Given the description of an element on the screen output the (x, y) to click on. 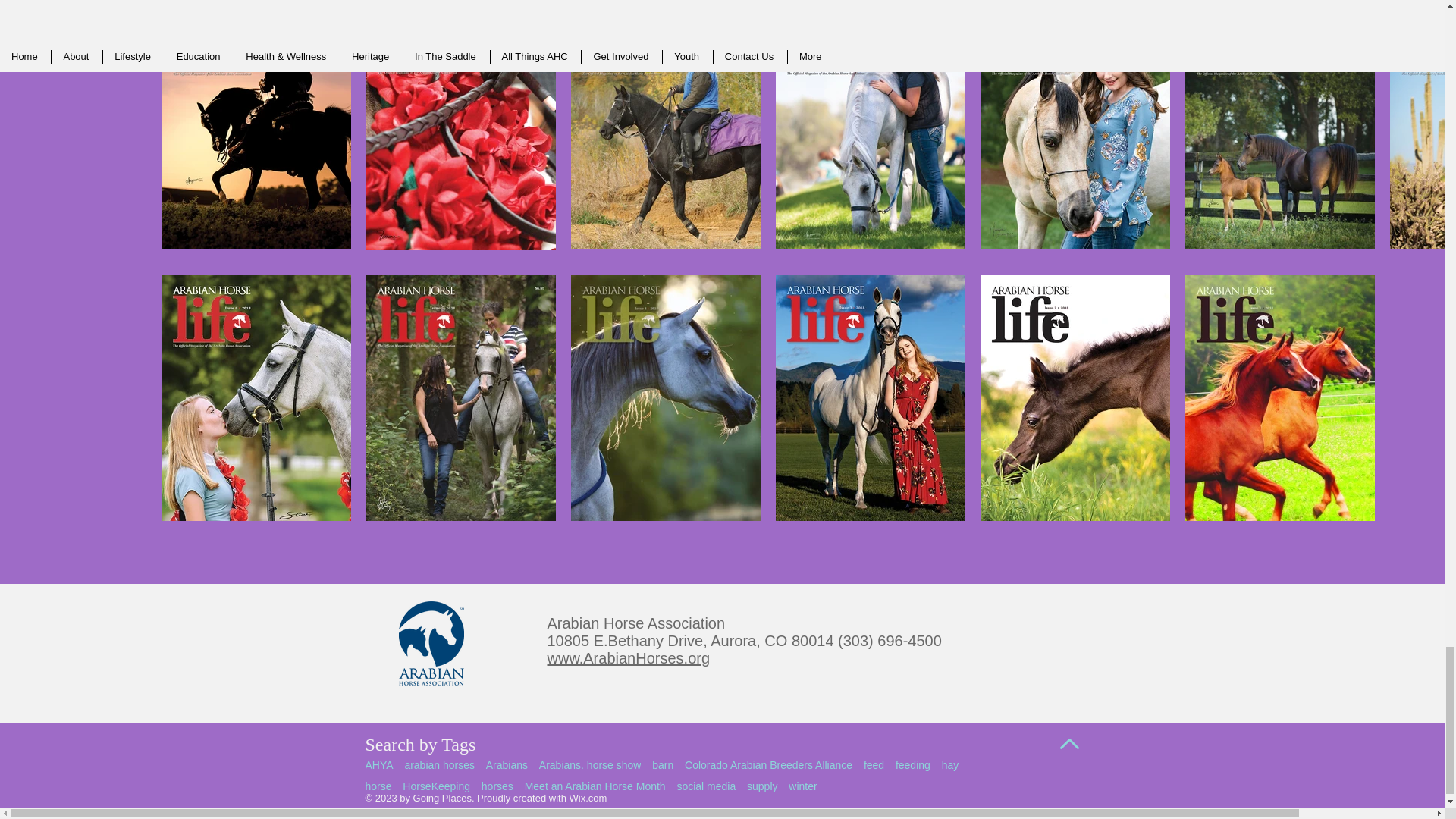
horses (497, 786)
arabian horses (439, 765)
social media (706, 786)
AHYA (379, 765)
Arabians (506, 765)
supply (761, 786)
hay (950, 765)
barn (662, 765)
winter (802, 786)
Colorado Arabian Breeders Alliance (767, 765)
